Given the description of an element on the screen output the (x, y) to click on. 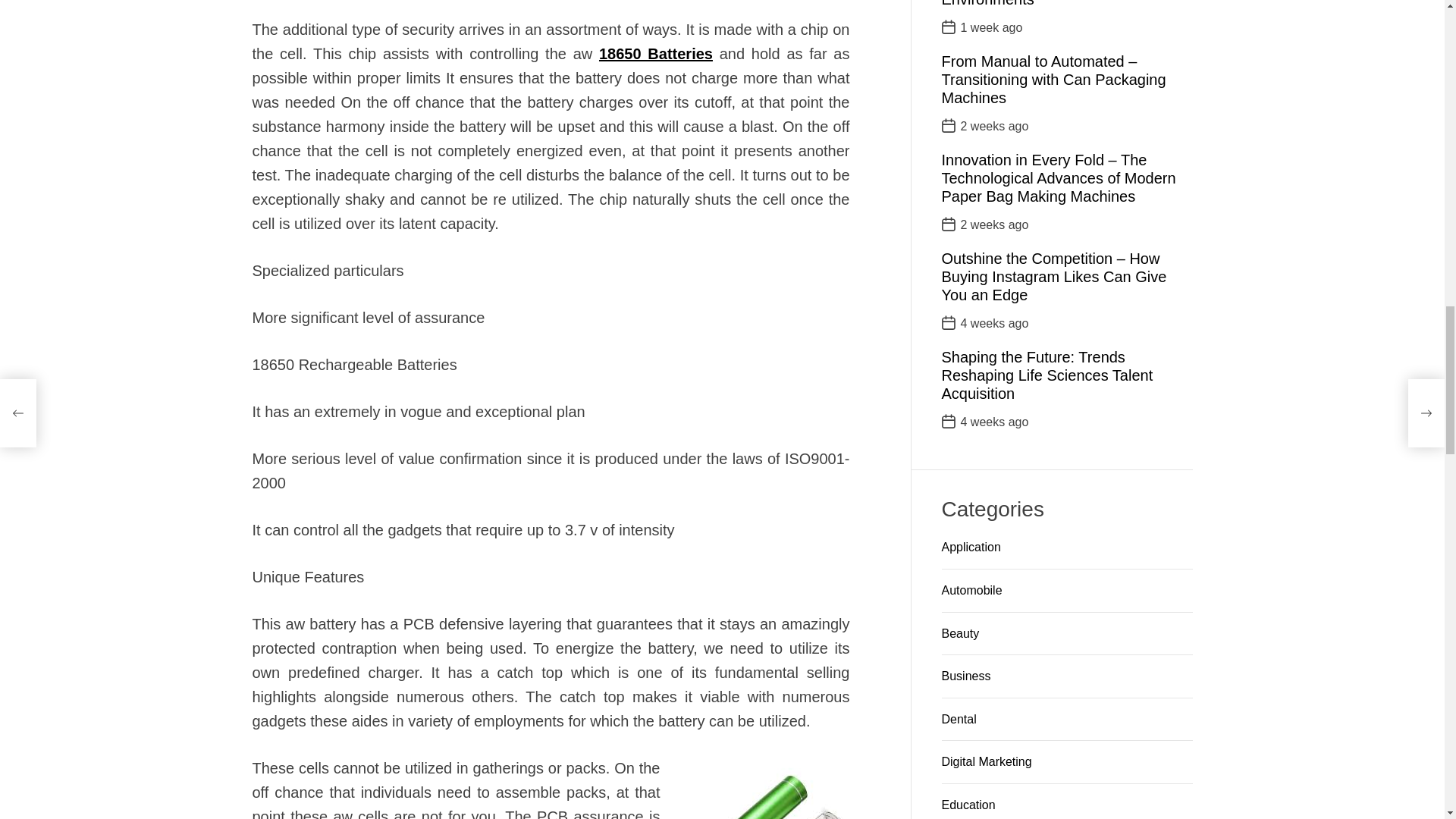
Debunking Myths About Heart Health Supplements (754, 511)
Elsa Williams (601, 349)
Elsa Williams (601, 349)
Elsa Williams (699, 194)
